Given the description of an element on the screen output the (x, y) to click on. 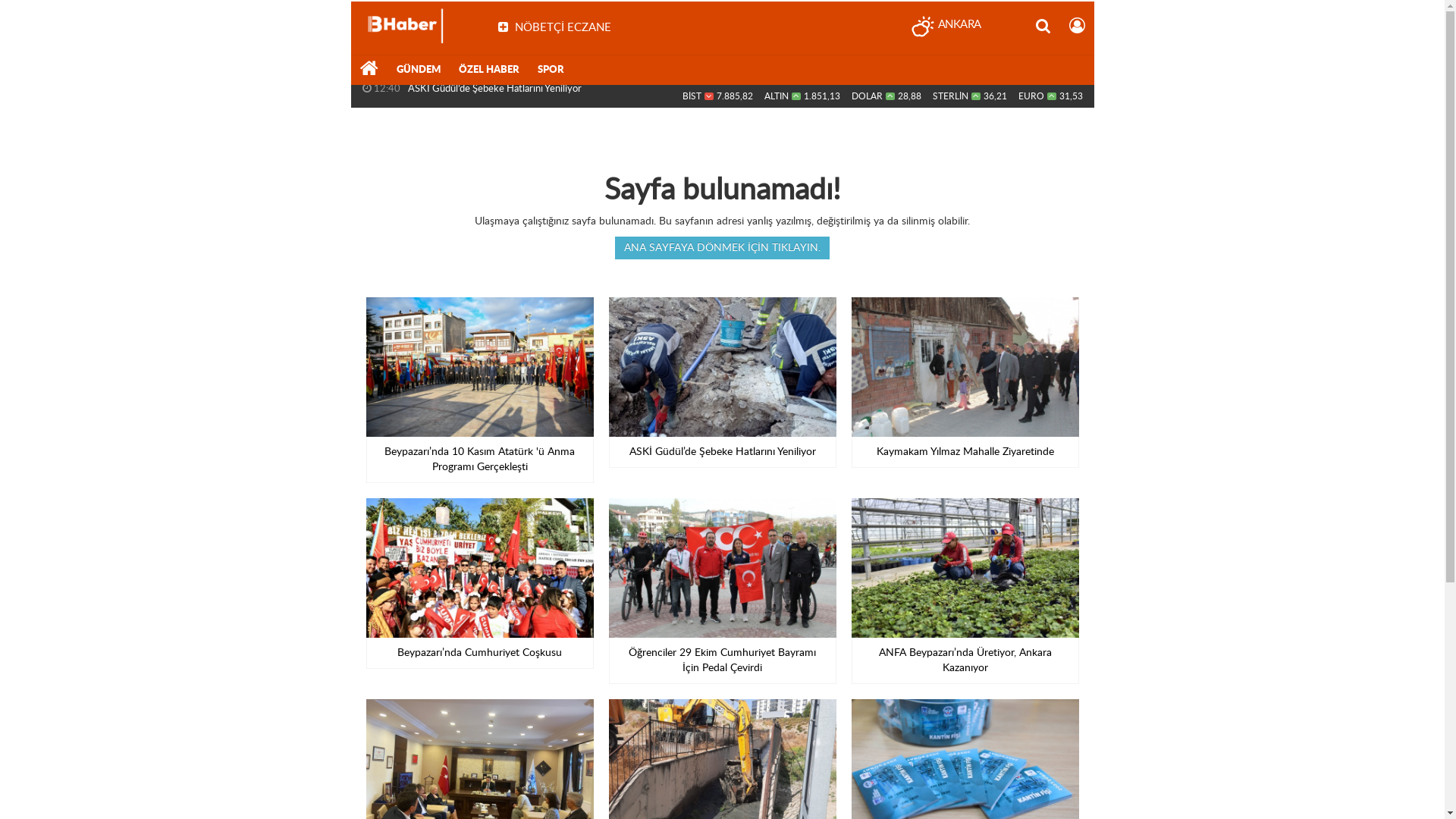
SPOR Element type: text (549, 70)
Haber Element type: hover (368, 70)
